Given the description of an element on the screen output the (x, y) to click on. 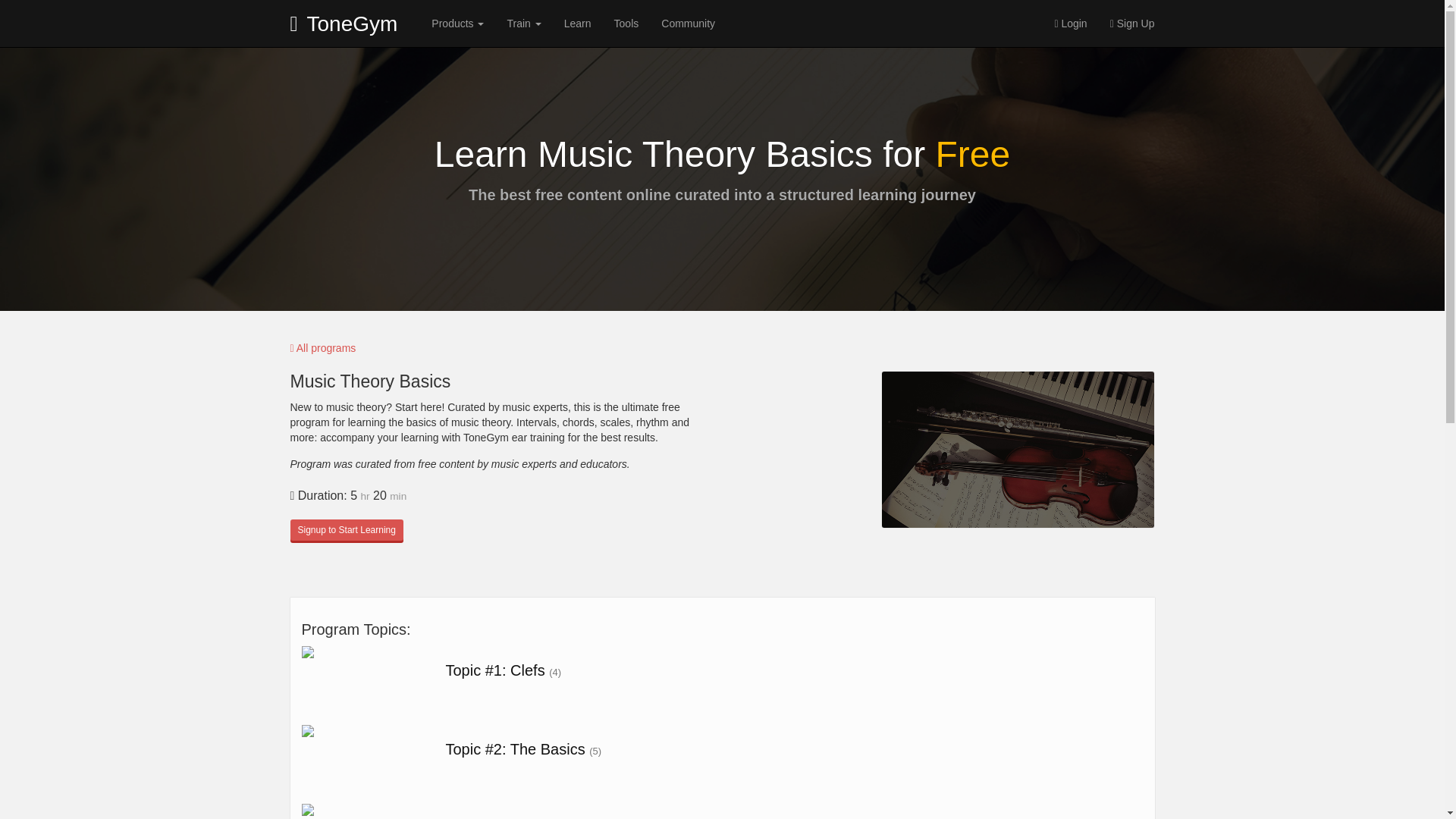
Community (687, 23)
Products (457, 23)
Sign Up (1132, 23)
Login (1069, 23)
All programs (322, 347)
Learn (577, 23)
ToneGym (343, 22)
Train (523, 23)
Tools (626, 23)
Signup to Start Learning (346, 529)
